Given the description of an element on the screen output the (x, y) to click on. 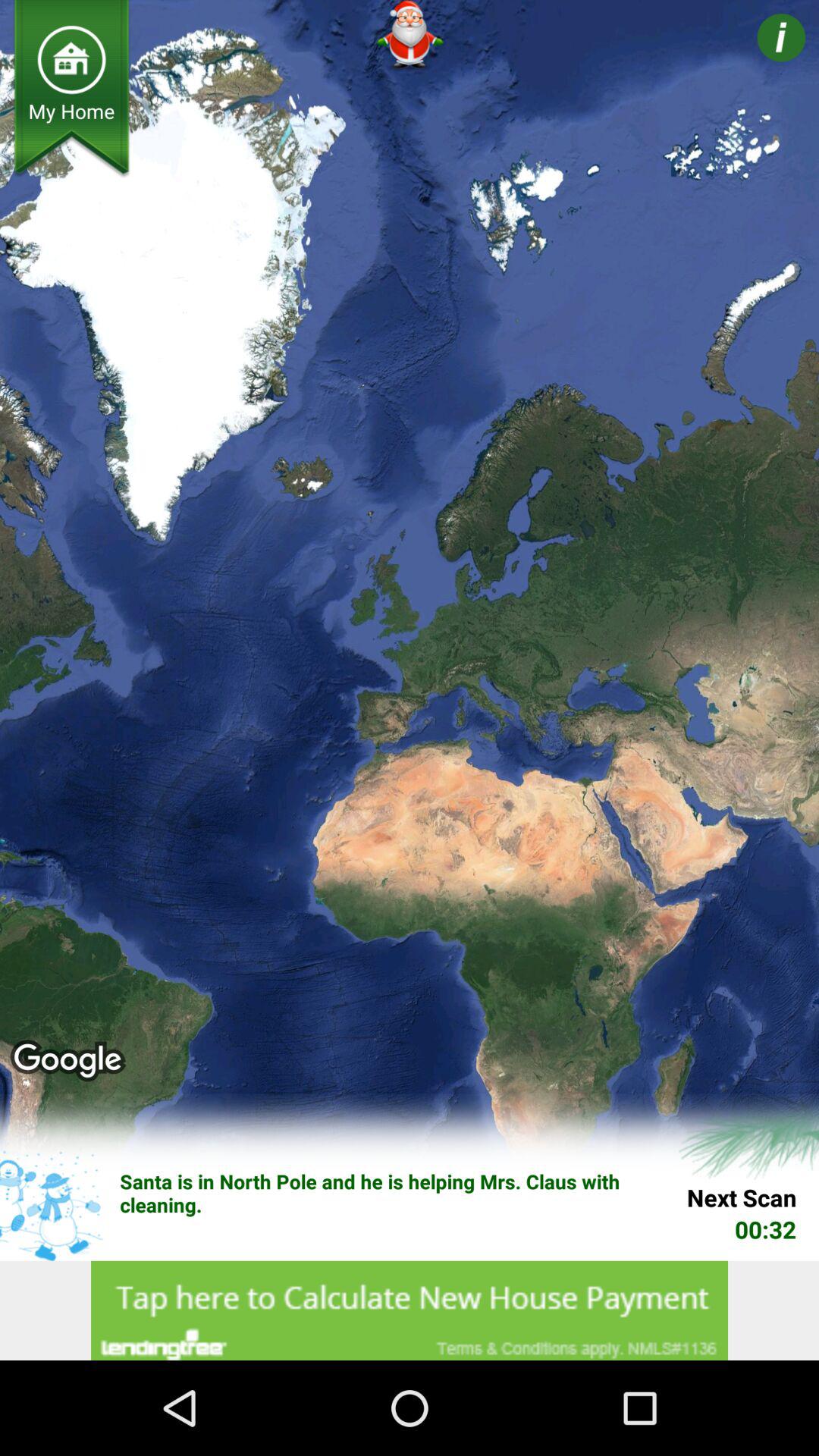
for home option (71, 59)
